Given the description of an element on the screen output the (x, y) to click on. 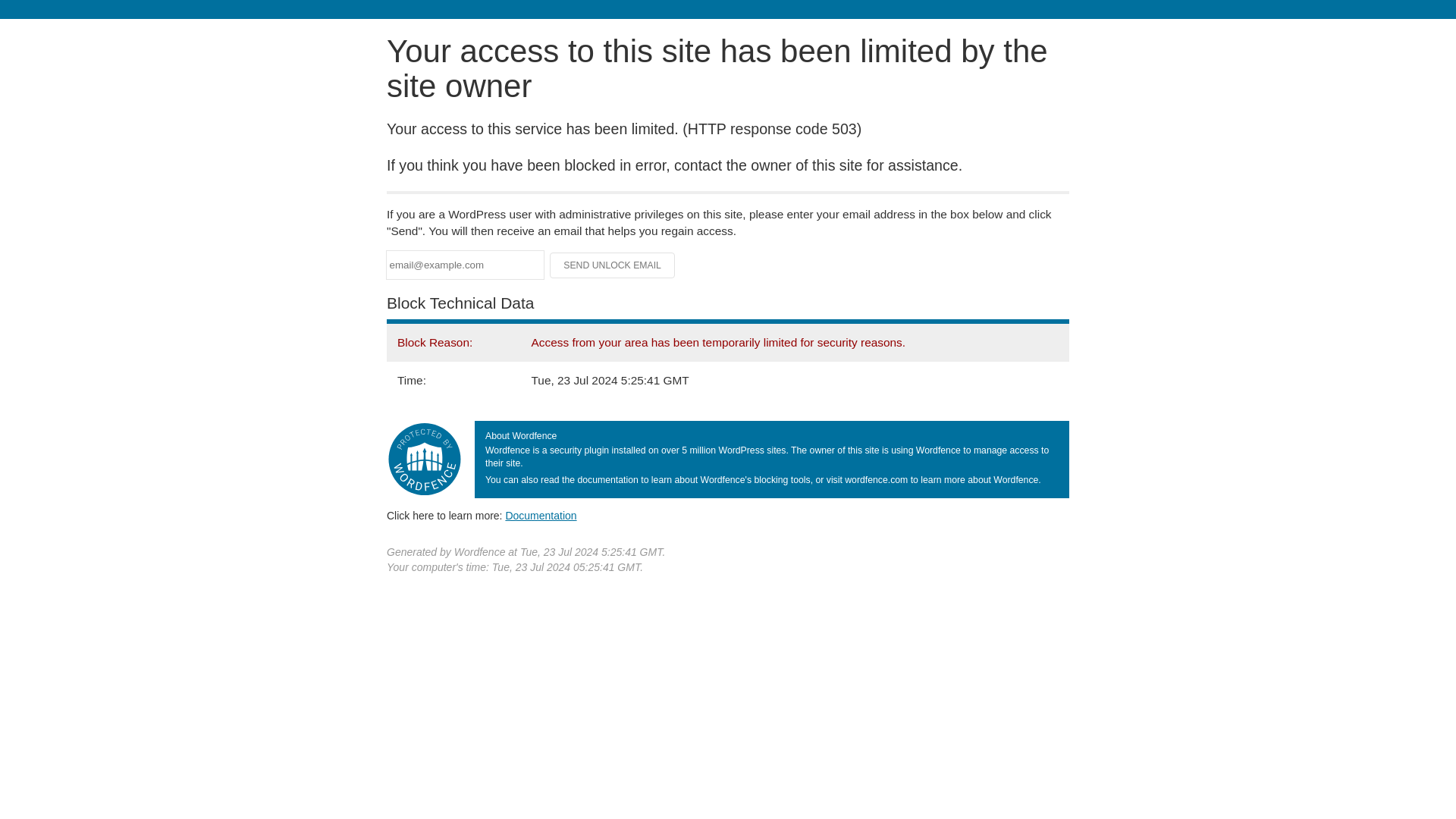
Documentation (540, 515)
Send Unlock Email (612, 265)
Send Unlock Email (612, 265)
